Given the description of an element on the screen output the (x, y) to click on. 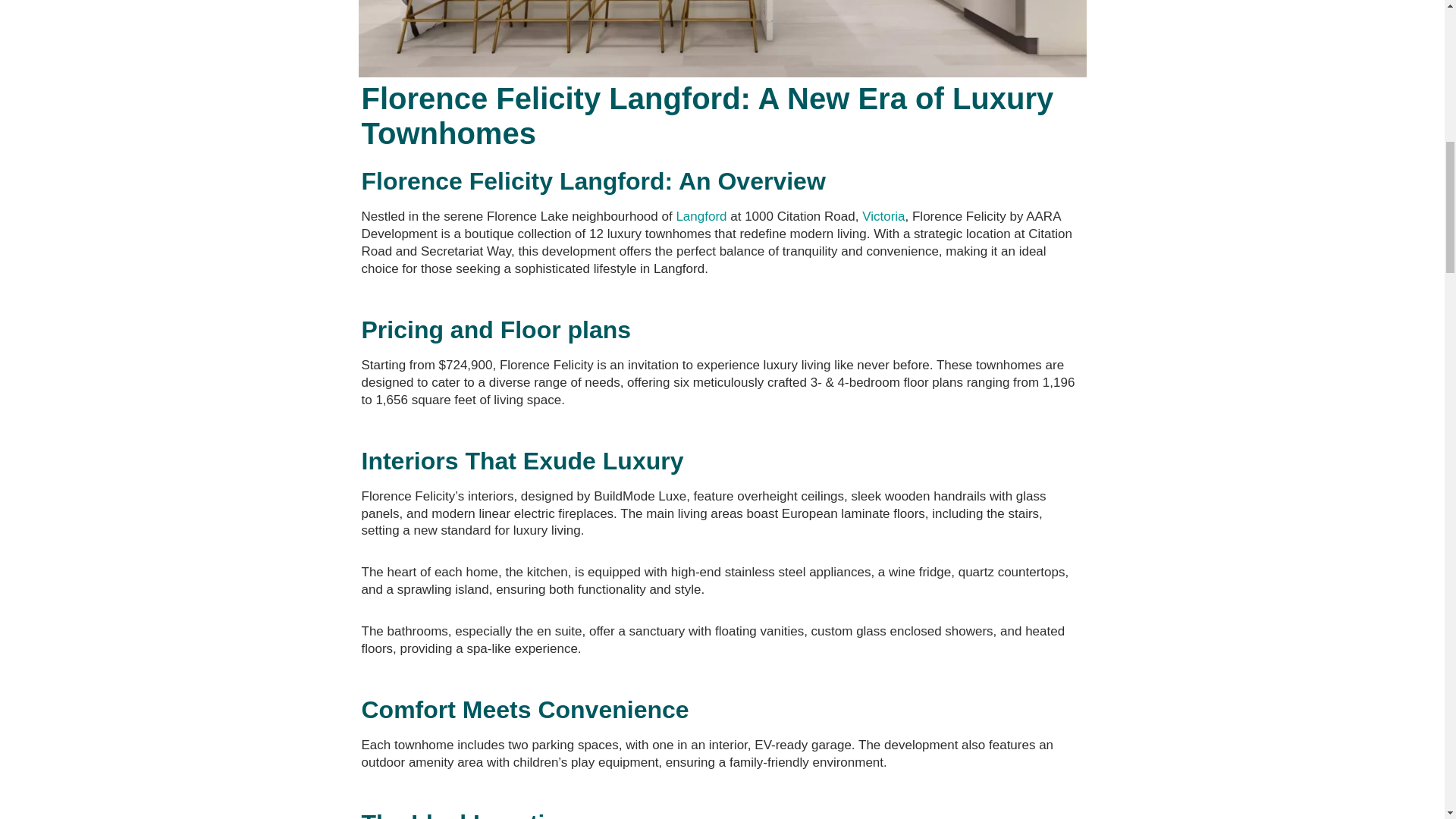
Victoria (882, 216)
Langford (700, 216)
